Given the description of an element on the screen output the (x, y) to click on. 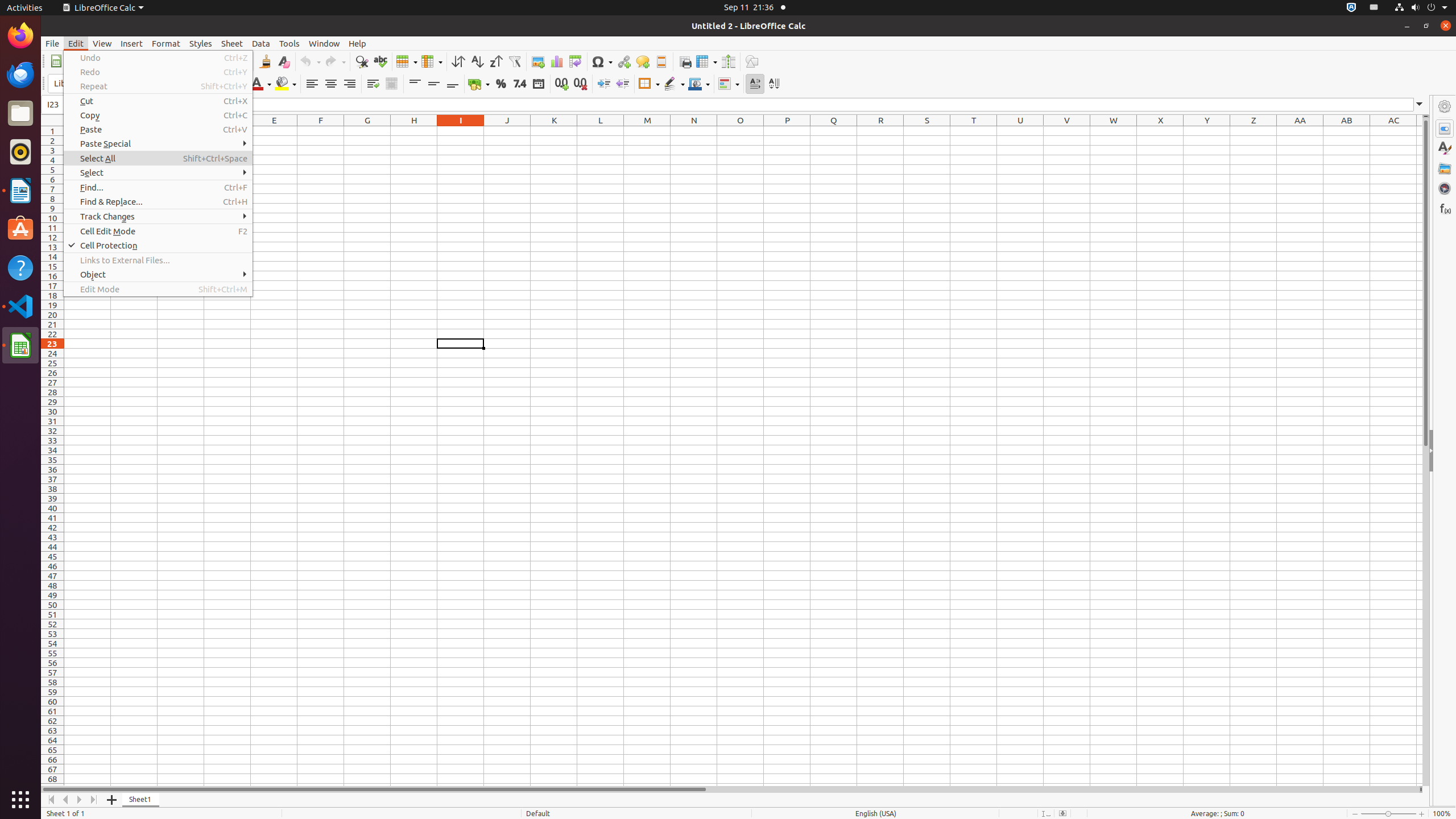
Increase Element type: push-button (603, 83)
Gallery Element type: radio-button (1444, 168)
Track Changes Element type: menu (157, 216)
